Given the description of an element on the screen output the (x, y) to click on. 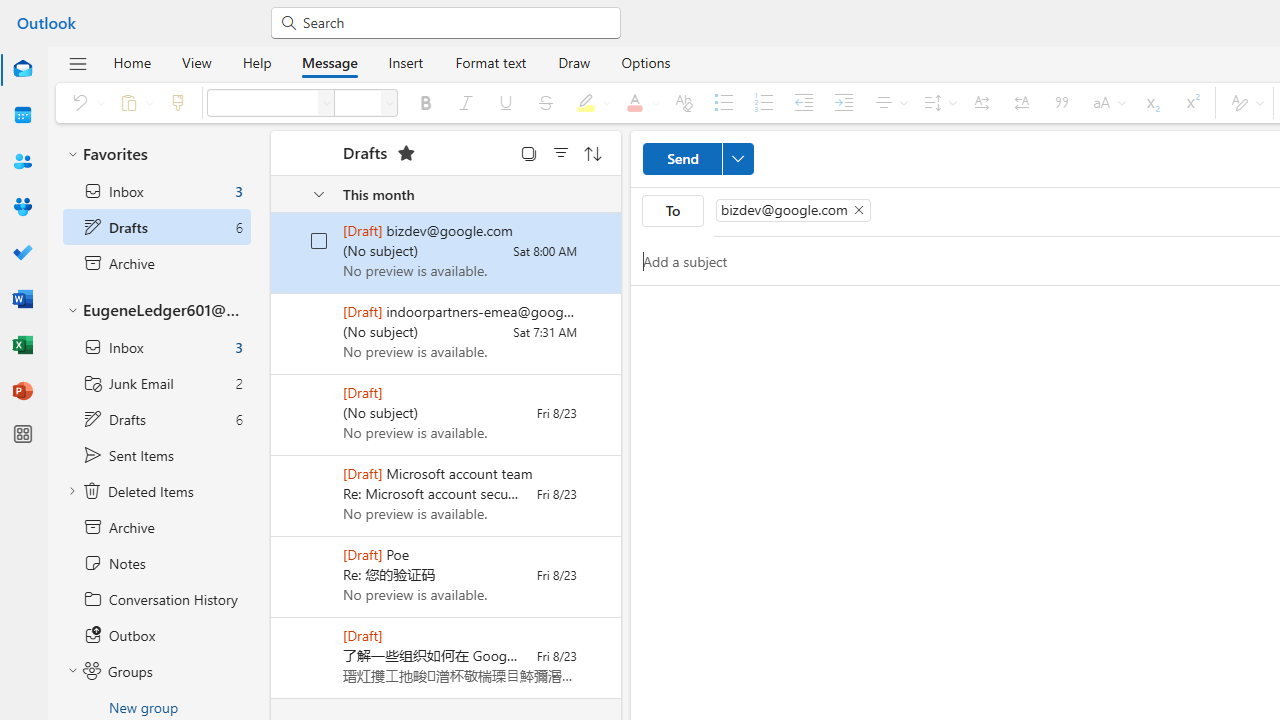
Font color (639, 102)
Align (888, 102)
Undo (84, 102)
Paste (132, 102)
Mail (22, 69)
Hide navigation pane (77, 63)
System (10, 11)
Font size (358, 102)
Inbox 3 unread (156, 347)
Message (329, 61)
Sorted: By Date (593, 152)
Clear formatting (684, 102)
Excel (22, 345)
Italic (465, 102)
